Given the description of an element on the screen output the (x, y) to click on. 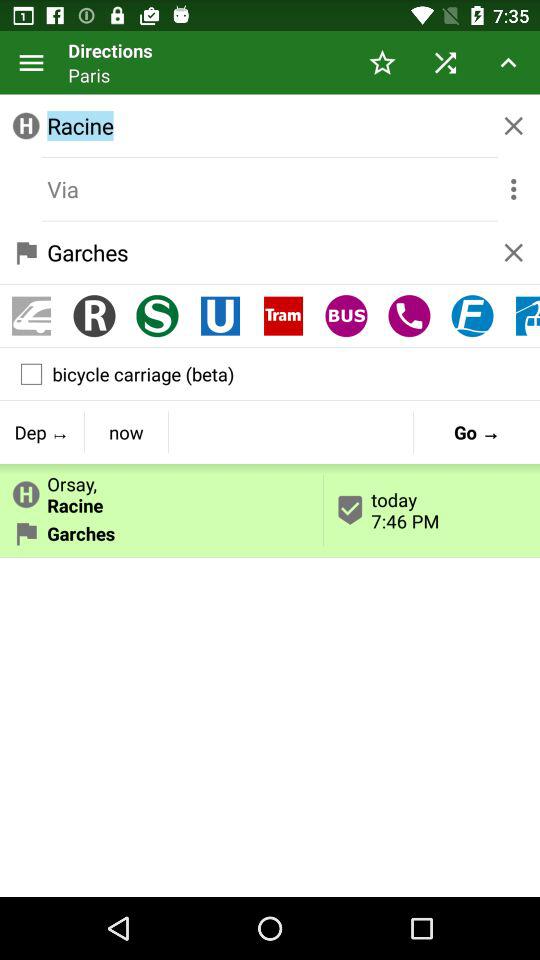
turn off item next to directions icon (31, 62)
